Given the description of an element on the screen output the (x, y) to click on. 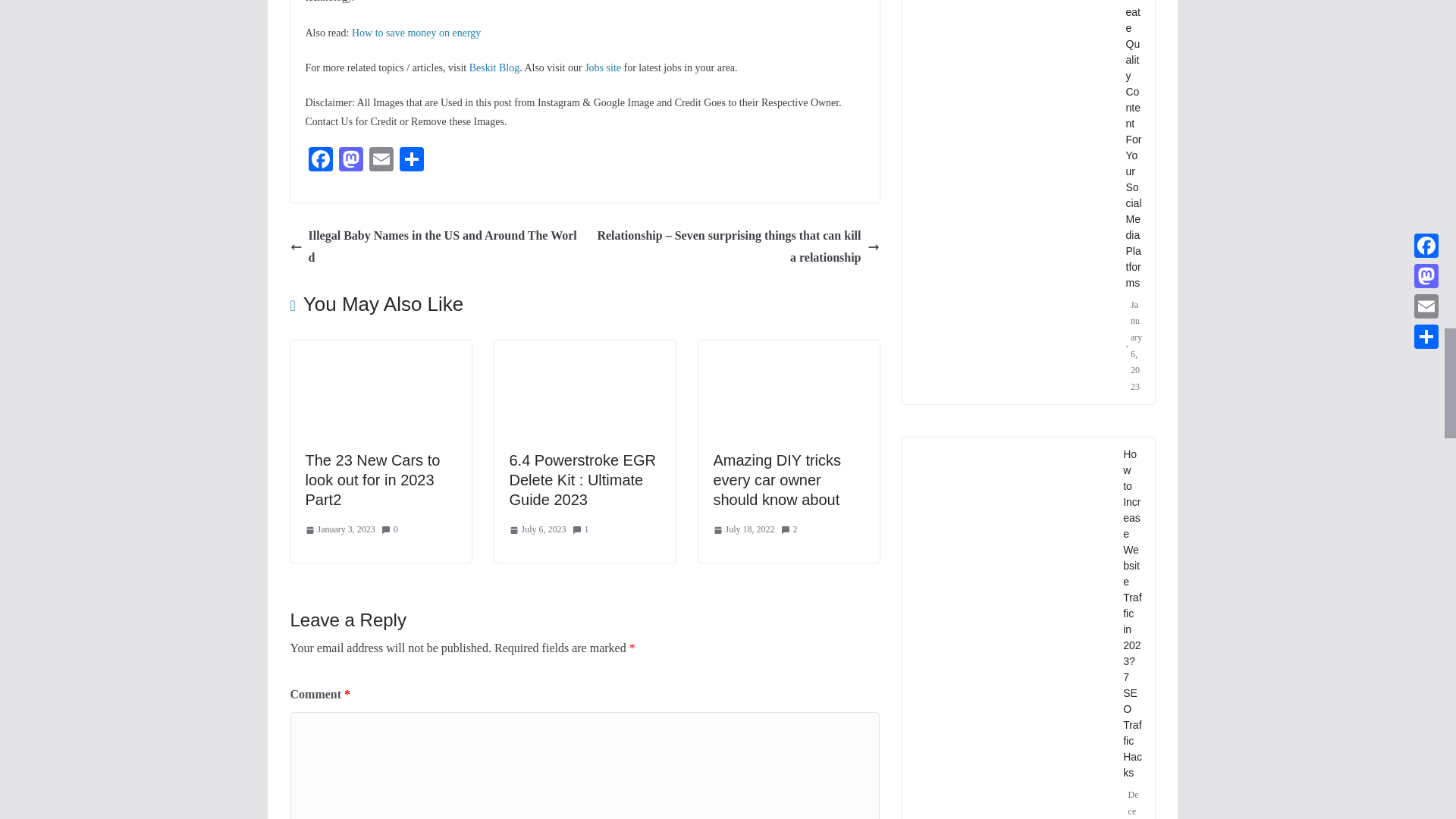
The 23 New Cars to look out for in 2023 Part2 (379, 350)
The 23 New Cars to look out for in 2023 Part2 (371, 479)
Mastodon (349, 161)
Email (380, 161)
Mastodon (349, 161)
How to save money on energy (416, 32)
Email (380, 161)
Illegal Baby Names in the US and Around The World (432, 247)
Facebook (319, 161)
Jobs site (603, 67)
Share (411, 161)
Facebook (319, 161)
Beskit Blog (493, 67)
